Given the description of an element on the screen output the (x, y) to click on. 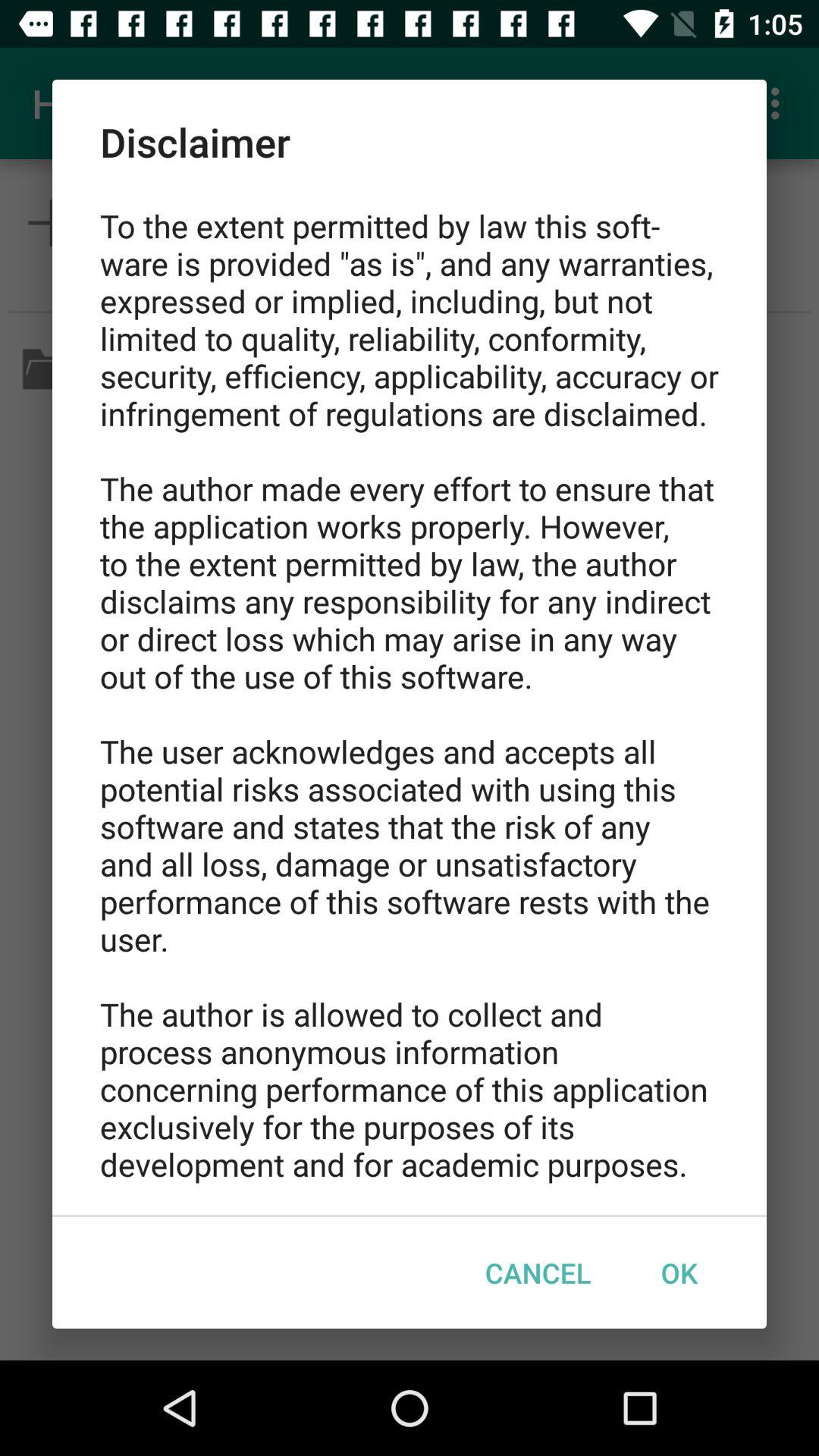
choose the ok item (678, 1272)
